Given the description of an element on the screen output the (x, y) to click on. 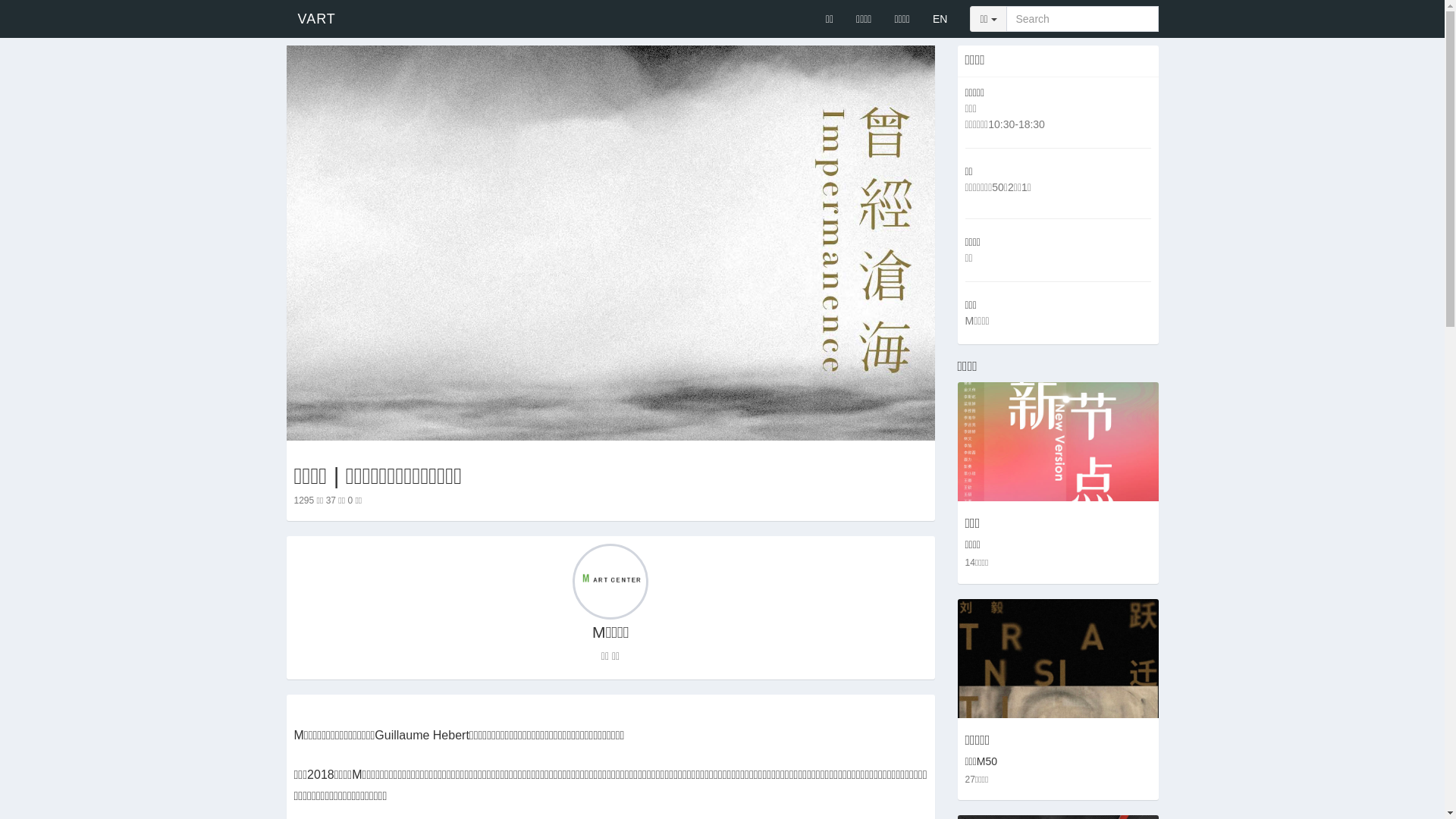
EN Element type: text (939, 18)
VART Element type: text (420, 18)
